Given the description of an element on the screen output the (x, y) to click on. 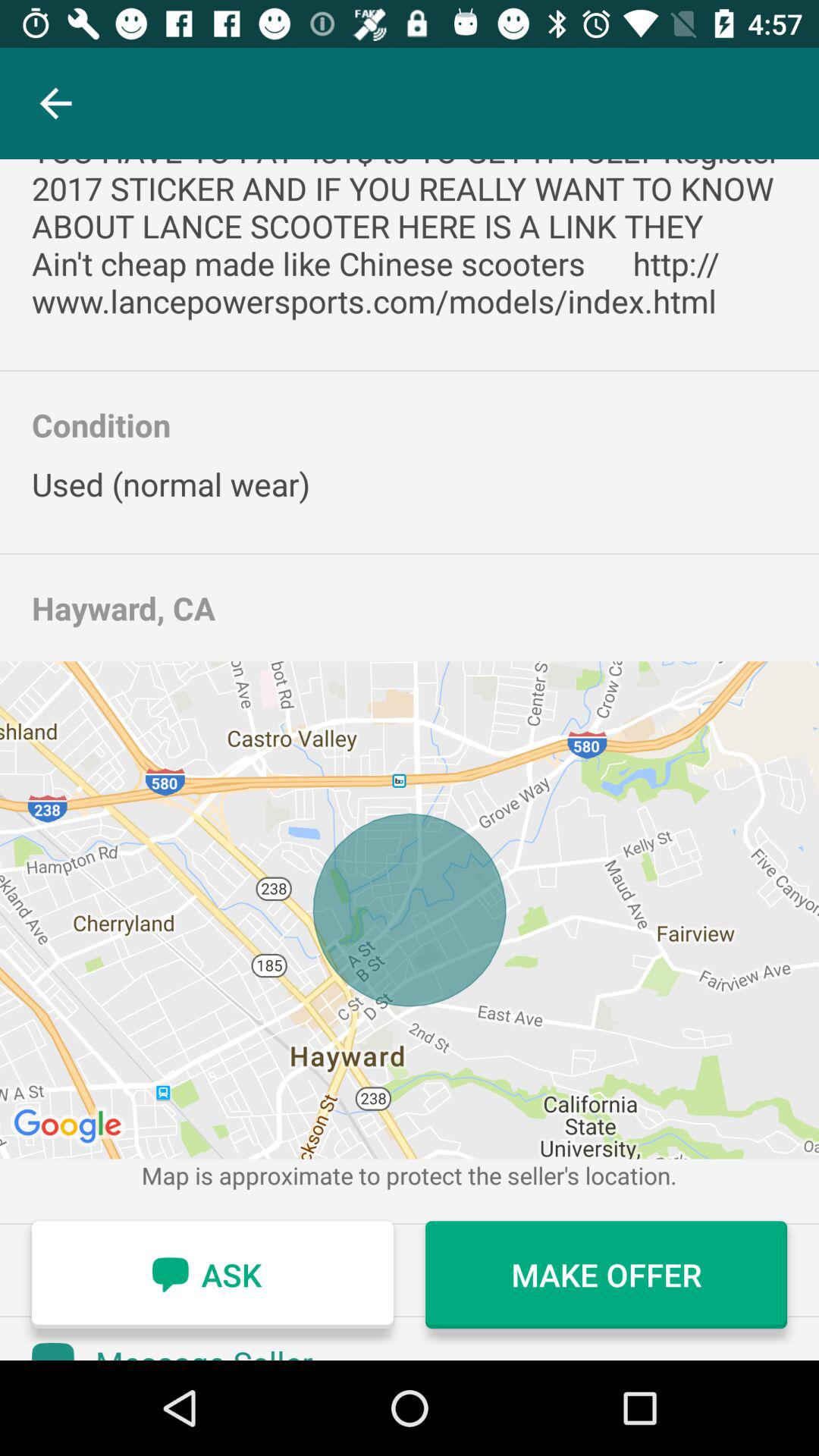
swipe until the make offer (606, 1274)
